Given the description of an element on the screen output the (x, y) to click on. 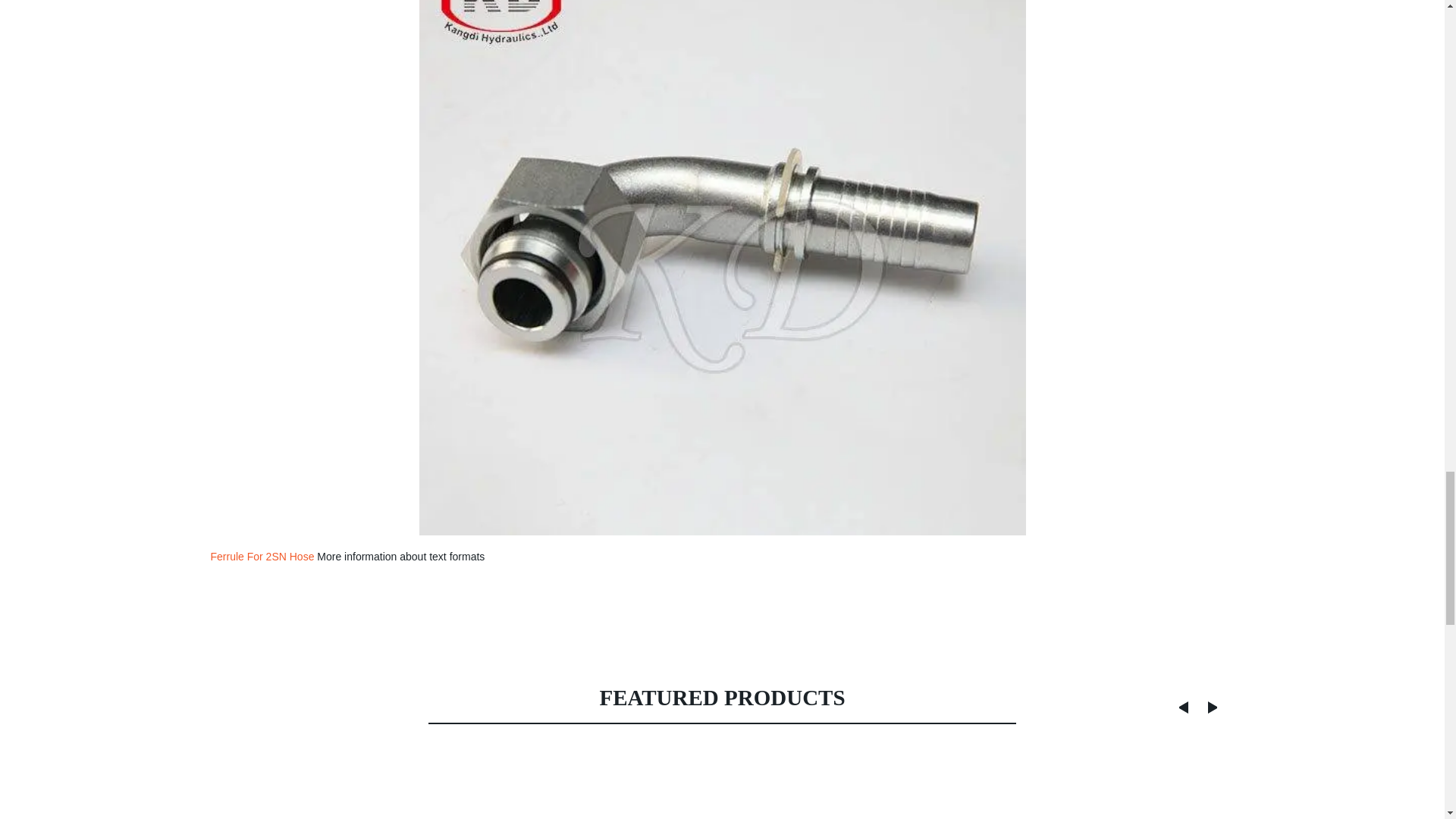
Ferrule For 2SN Hose (262, 556)
